Given the description of an element on the screen output the (x, y) to click on. 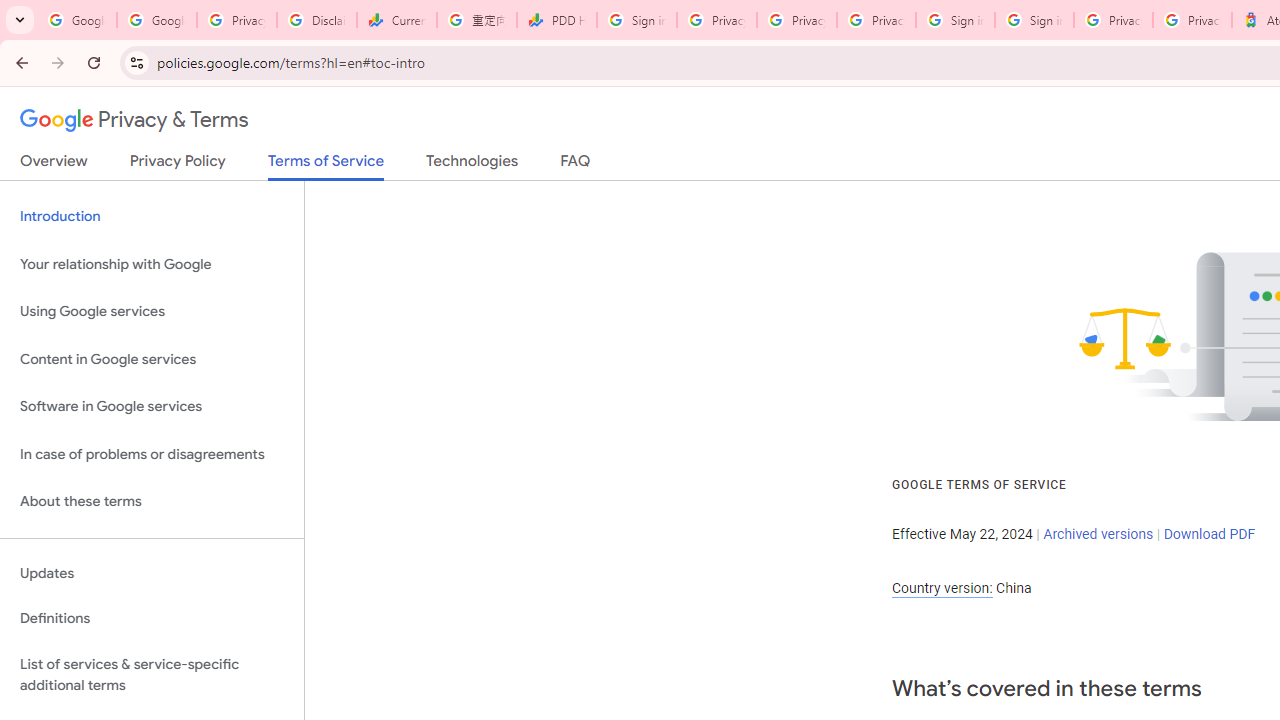
Sign in - Google Accounts (636, 20)
In case of problems or disagreements (152, 453)
Sign in - Google Accounts (955, 20)
Content in Google services (152, 358)
About these terms (152, 502)
Using Google services (152, 312)
Your relationship with Google (152, 263)
